Given the description of an element on the screen output the (x, y) to click on. 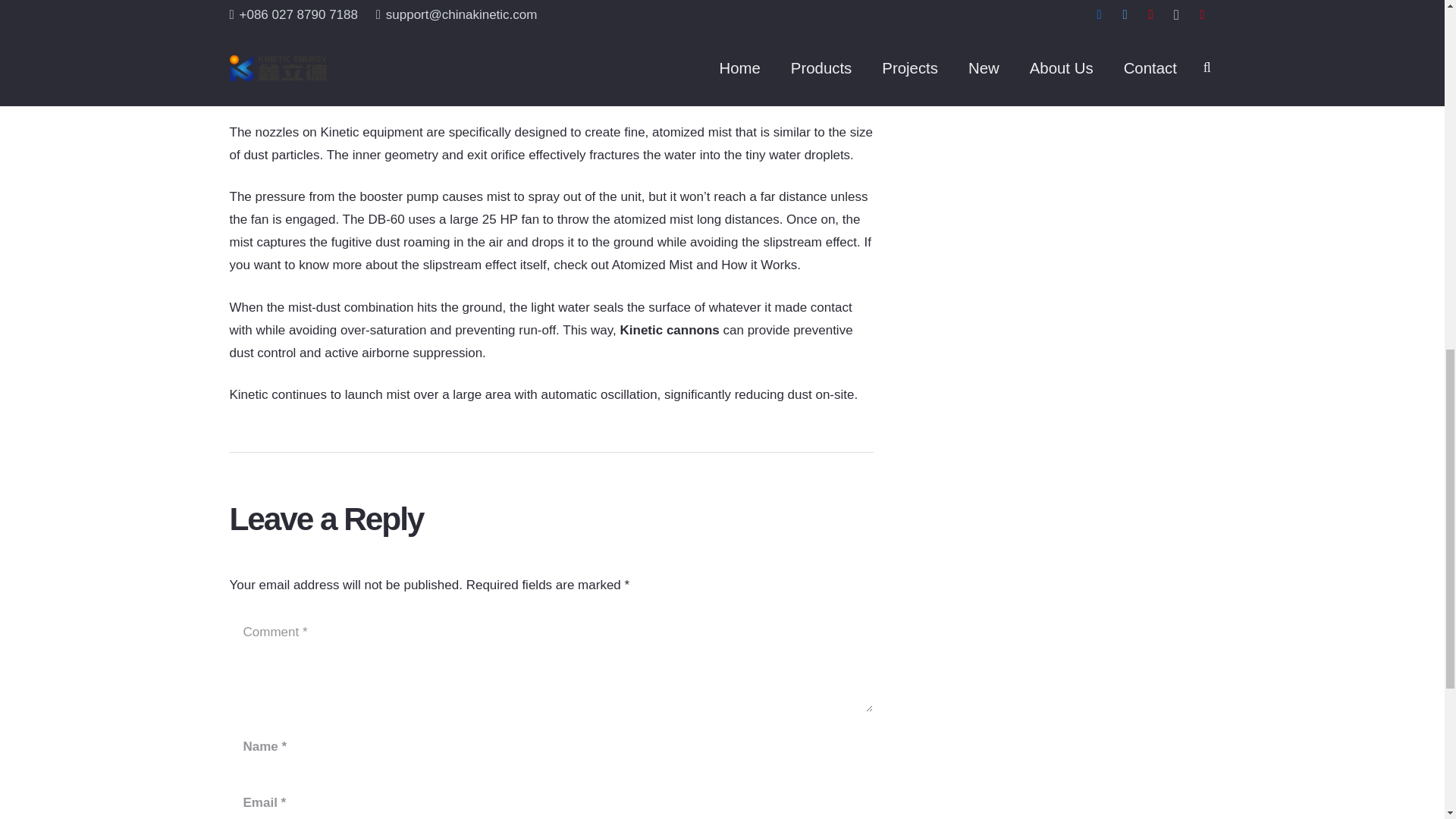
Back to top (1413, 34)
